Given the description of an element on the screen output the (x, y) to click on. 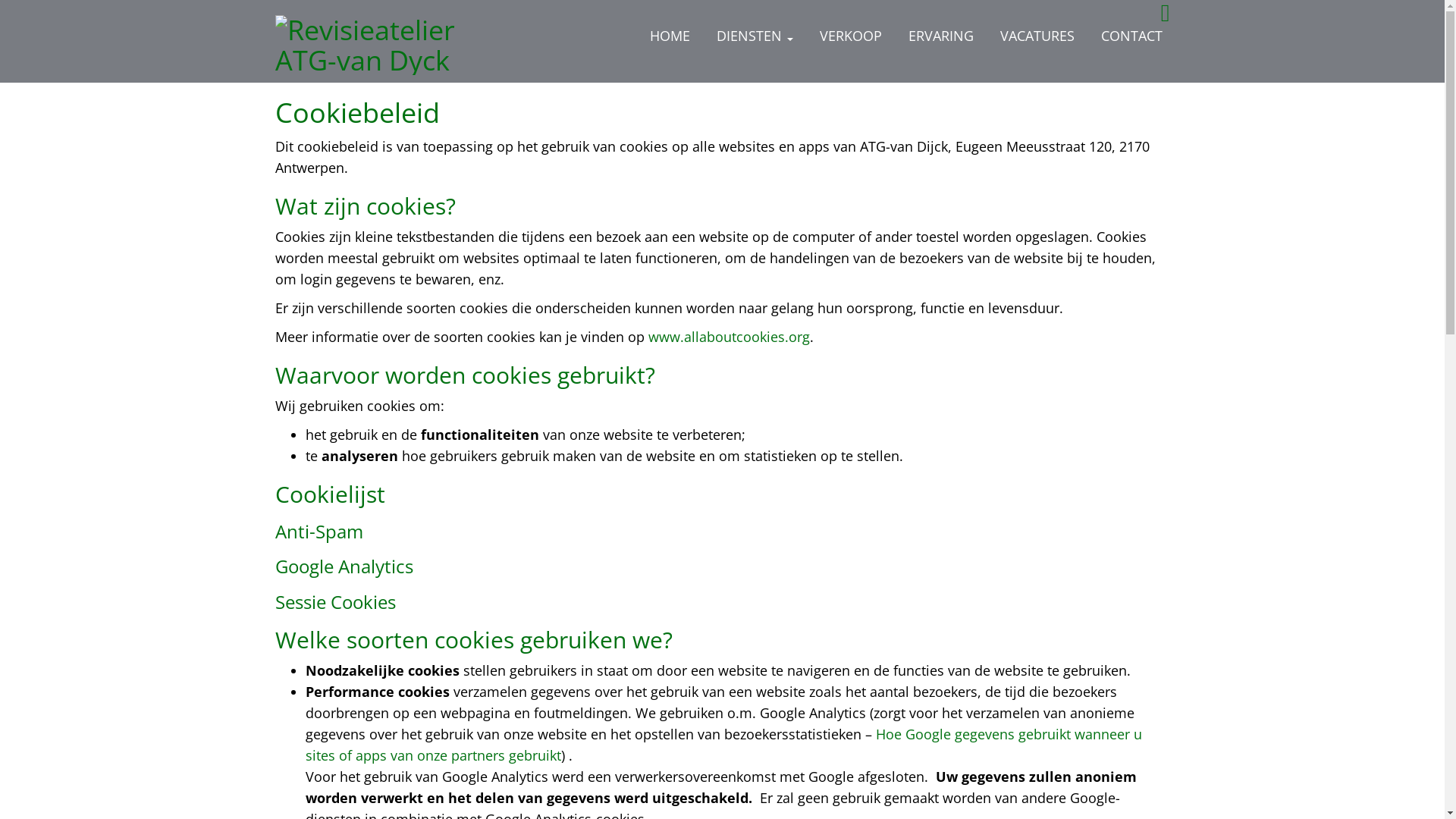
VACATURES Element type: text (1036, 35)
VERKOOP Element type: text (849, 35)
ERVARING Element type: text (940, 35)
www.allaboutcookies.org Element type: text (728, 336)
CONTACT Element type: text (1131, 35)
HOME Element type: text (668, 35)
DIENSTEN Element type: text (754, 35)
